Given the description of an element on the screen output the (x, y) to click on. 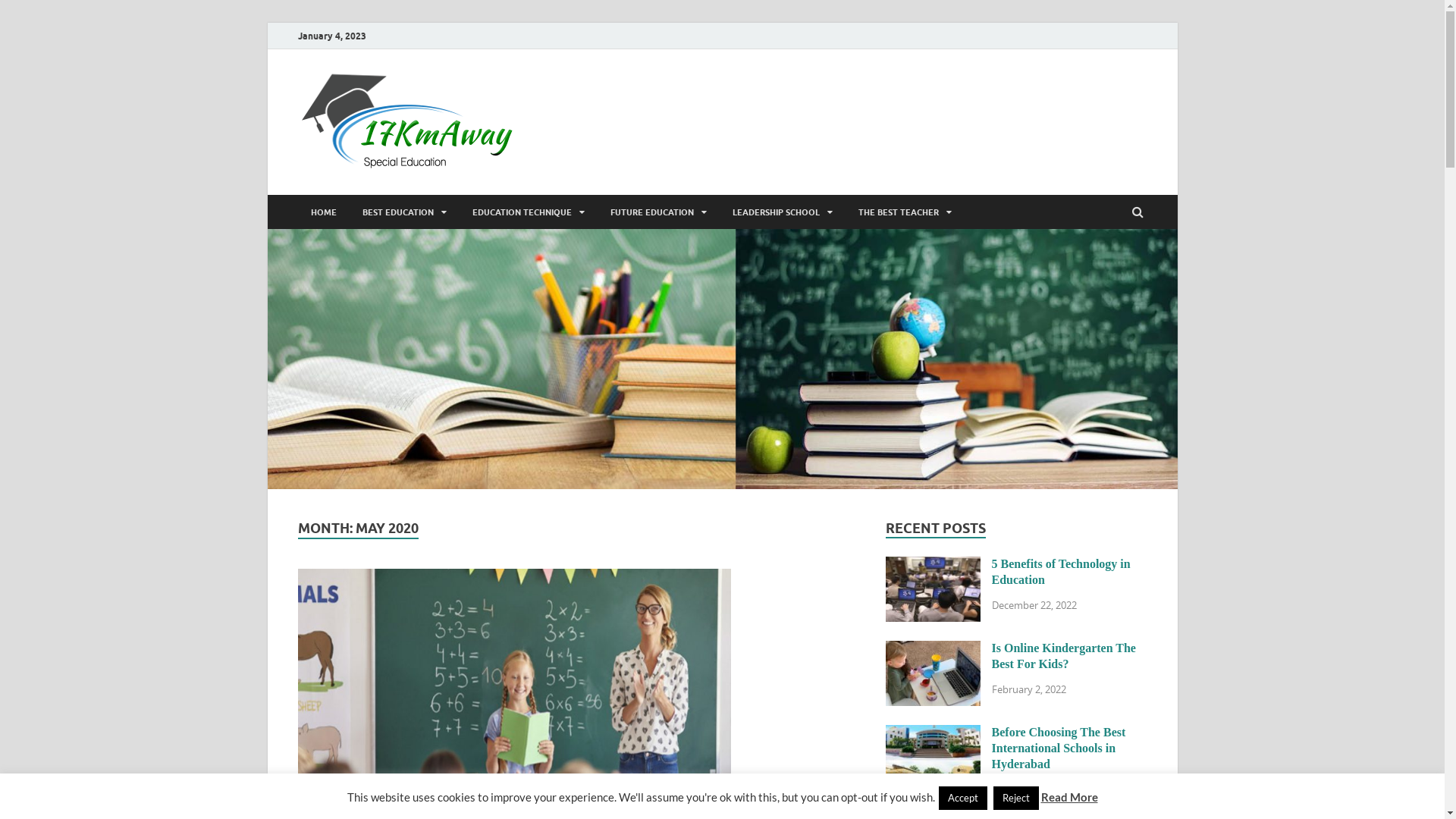
LEADERSHIP SCHOOL Element type: text (781, 211)
Before Choosing The Best International Schools in Hyderabad Element type: text (1058, 747)
Before Choosing The Best International Schools in Hyderabad Element type: hover (932, 733)
5 Benefits of Technology in Education Element type: hover (932, 565)
Reject Element type: text (1015, 797)
Read More Element type: text (1068, 796)
THE BEST TEACHER Element type: text (903, 211)
Accept Element type: text (962, 797)
EDUCATION TECHNIQUE Element type: text (528, 211)
5 Benefits of Technology in Education Element type: text (1060, 571)
BEST EDUCATION Element type: text (403, 211)
17000kmaway.com Element type: text (654, 101)
FUTURE EDUCATION Element type: text (658, 211)
HOME Element type: text (322, 211)
Is Online Kindergarten The Best For Kids? Element type: text (1063, 655)
Is Online Kindergarten The Best For Kids? Element type: hover (932, 649)
